Given the description of an element on the screen output the (x, y) to click on. 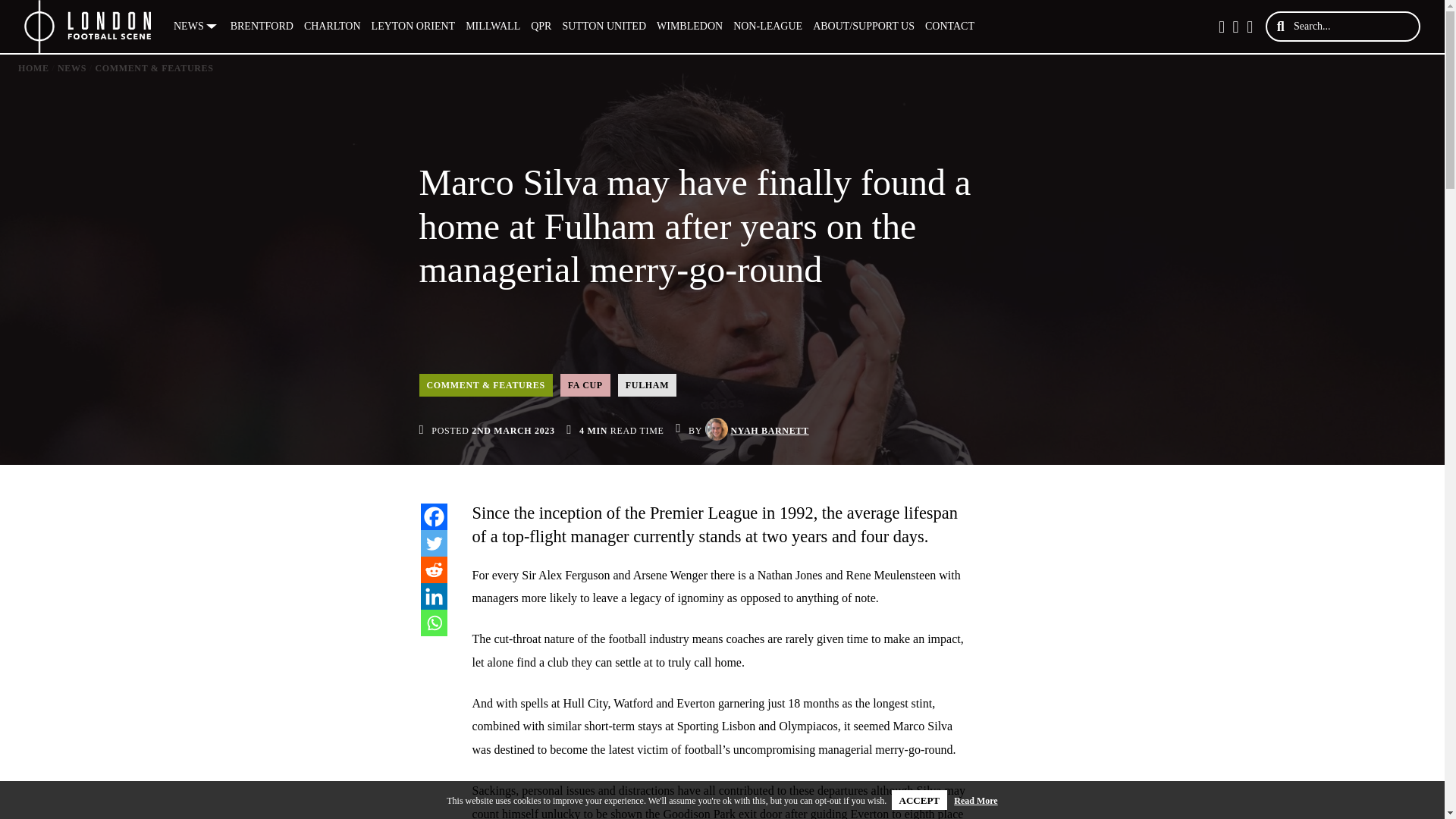
LEYTON ORIENT (413, 26)
Posts by Nyah Barnett (769, 430)
HOME (33, 68)
MILLWALL (492, 26)
LONDON FOOTBALL SCENE (88, 26)
NEWS (71, 68)
NYAH BARNETT (769, 430)
CHARLTON (332, 26)
FULHAM (647, 384)
NON-LEAGUE (768, 26)
QPR (540, 26)
SUTTON UNITED (603, 26)
NEWS (196, 26)
FA CUP (585, 384)
CONTACT (949, 26)
